Given the description of an element on the screen output the (x, y) to click on. 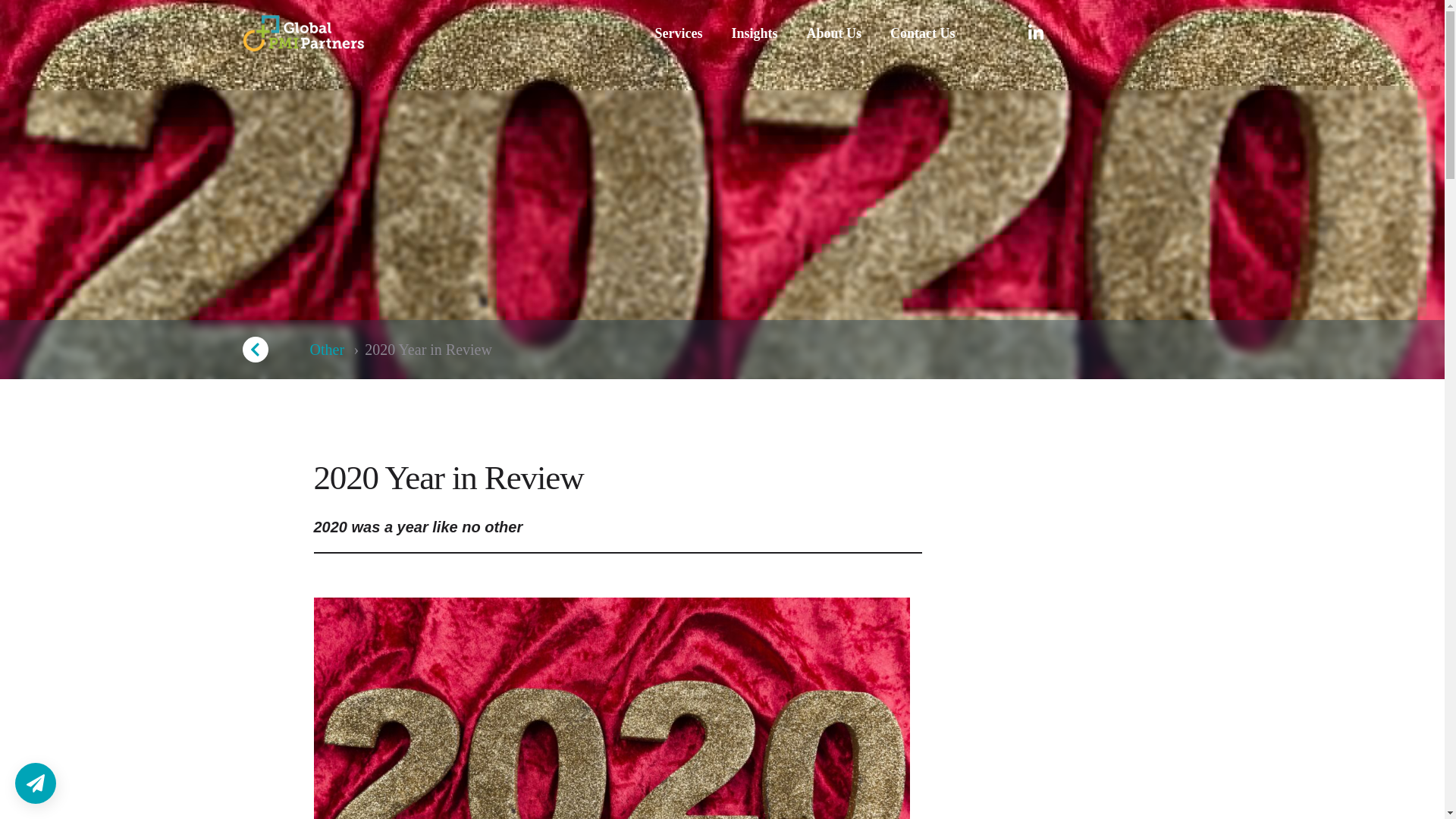
Other (325, 349)
Services (677, 33)
2020 Year in Review (428, 349)
Contact Us (922, 32)
About Us (833, 33)
Insights (753, 33)
GPMIP (304, 33)
